Given the description of an element on the screen output the (x, y) to click on. 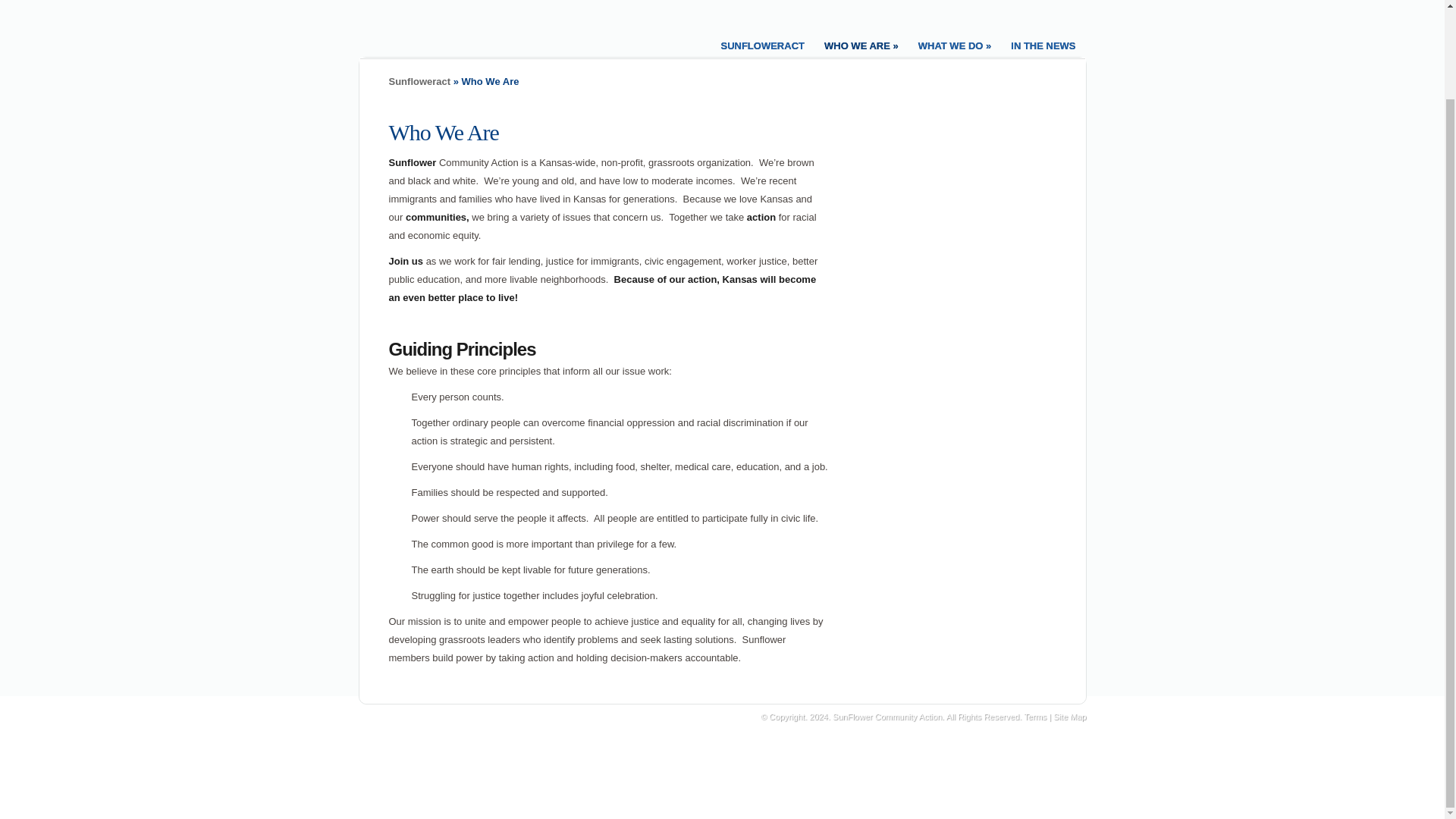
Sunfloweract (418, 81)
Terms (1034, 716)
IN THE NEWS (1042, 43)
SUNFLOWERACT (762, 43)
Site Map (1069, 716)
